Given the description of an element on the screen output the (x, y) to click on. 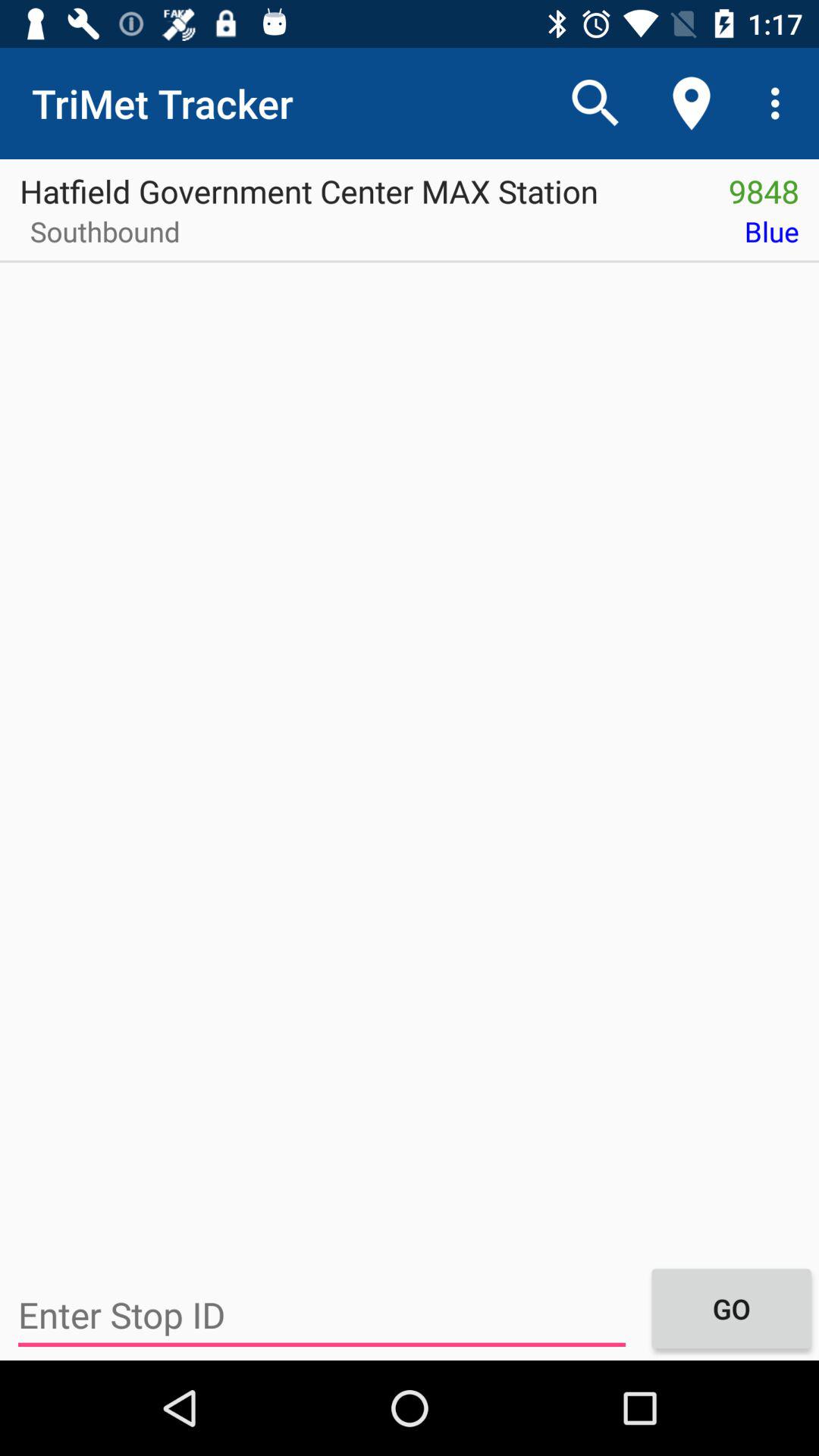
choose the item next to the southbound icon (509, 236)
